Given the description of an element on the screen output the (x, y) to click on. 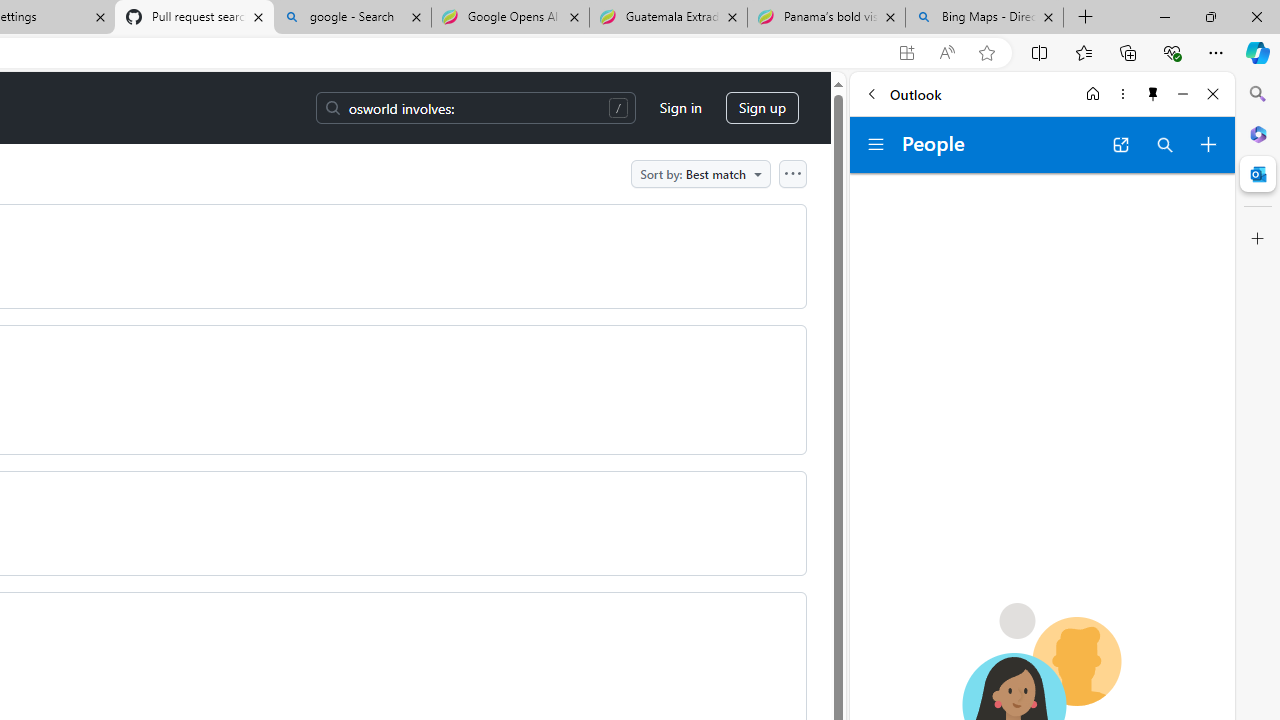
Sort by: Best match (700, 173)
Sign up (761, 107)
Google Opens AI Academy for Startups - Nearshore Americas (509, 17)
Open column options (792, 173)
